Given the description of an element on the screen output the (x, y) to click on. 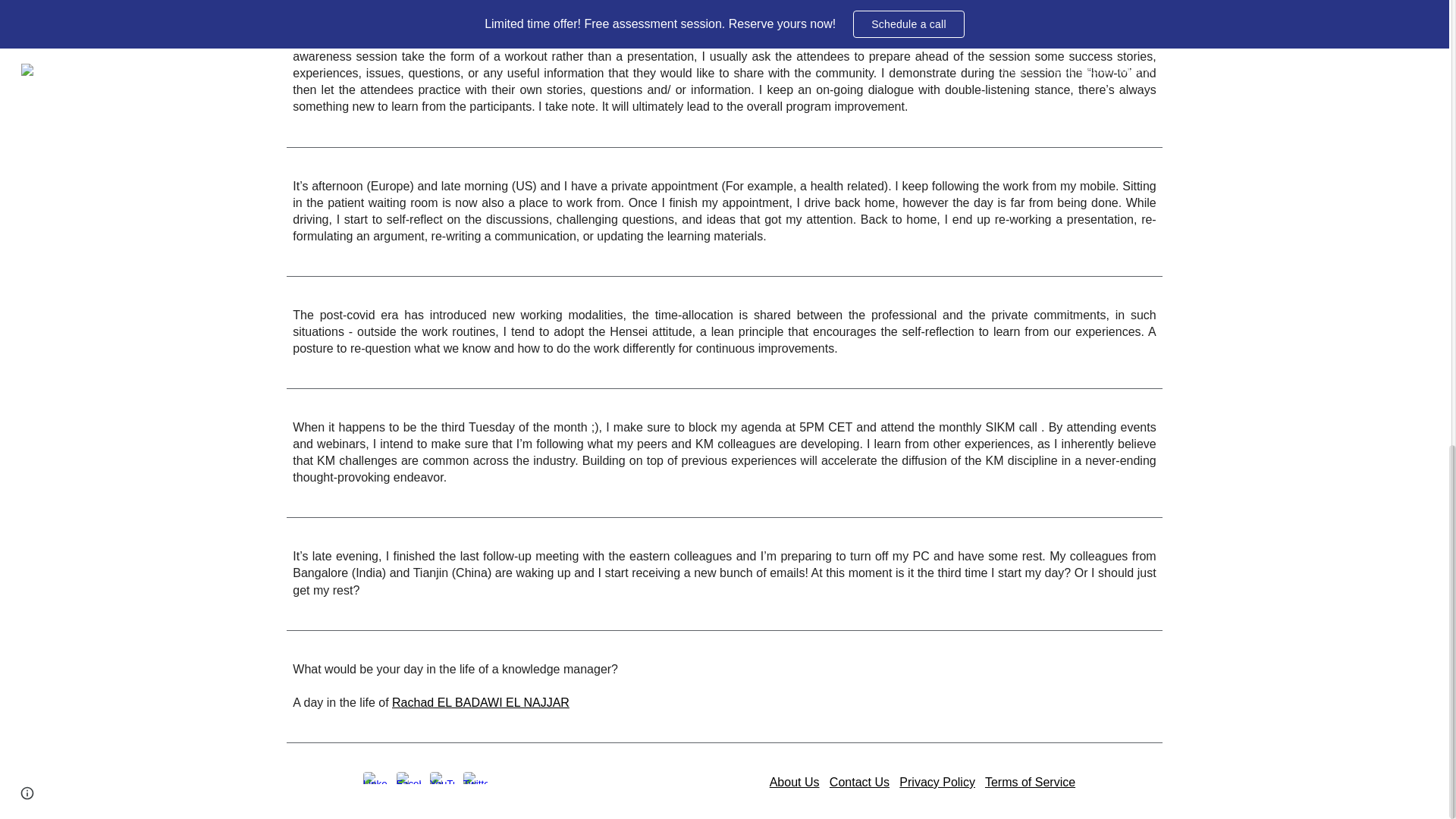
About Us (794, 781)
Rachad EL BADAWI EL NAJJAR (480, 702)
